Given the description of an element on the screen output the (x, y) to click on. 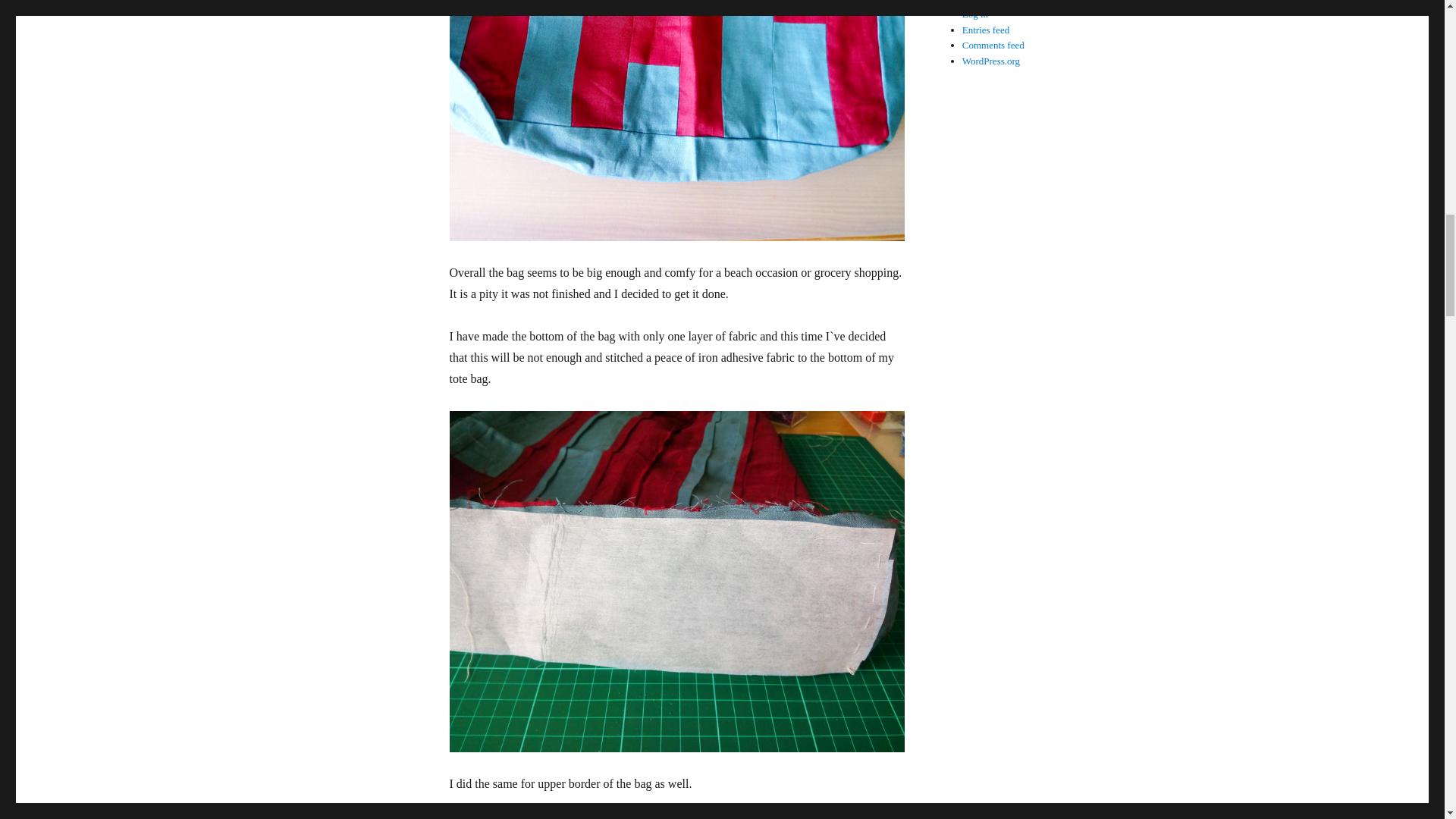
Entries feed (985, 30)
Log in (975, 13)
Advertisement (1065, 305)
WordPress.org (991, 60)
Comments feed (993, 44)
